Given the description of an element on the screen output the (x, y) to click on. 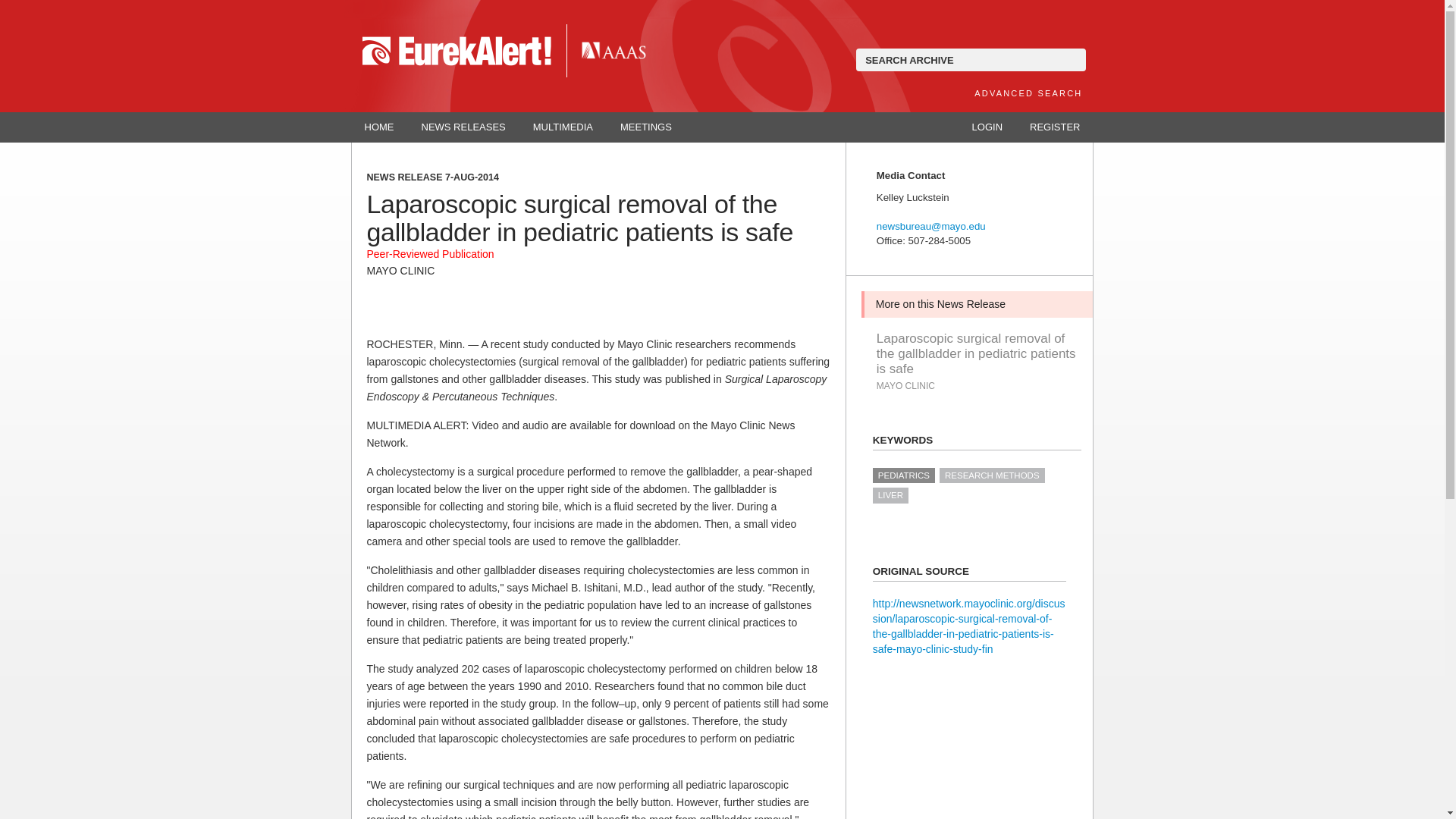
RESEARCH METHODS (992, 475)
MEETINGS (646, 127)
HOME (378, 127)
MULTIMEDIA (563, 127)
LOGIN (987, 127)
ADVANCED SEARCH (1027, 92)
LIVER (890, 494)
PEDIATRICS (903, 475)
Peer-Reviewed Publication (430, 254)
REGISTER (1054, 127)
NEWS RELEASES (463, 127)
